Given the description of an element on the screen output the (x, y) to click on. 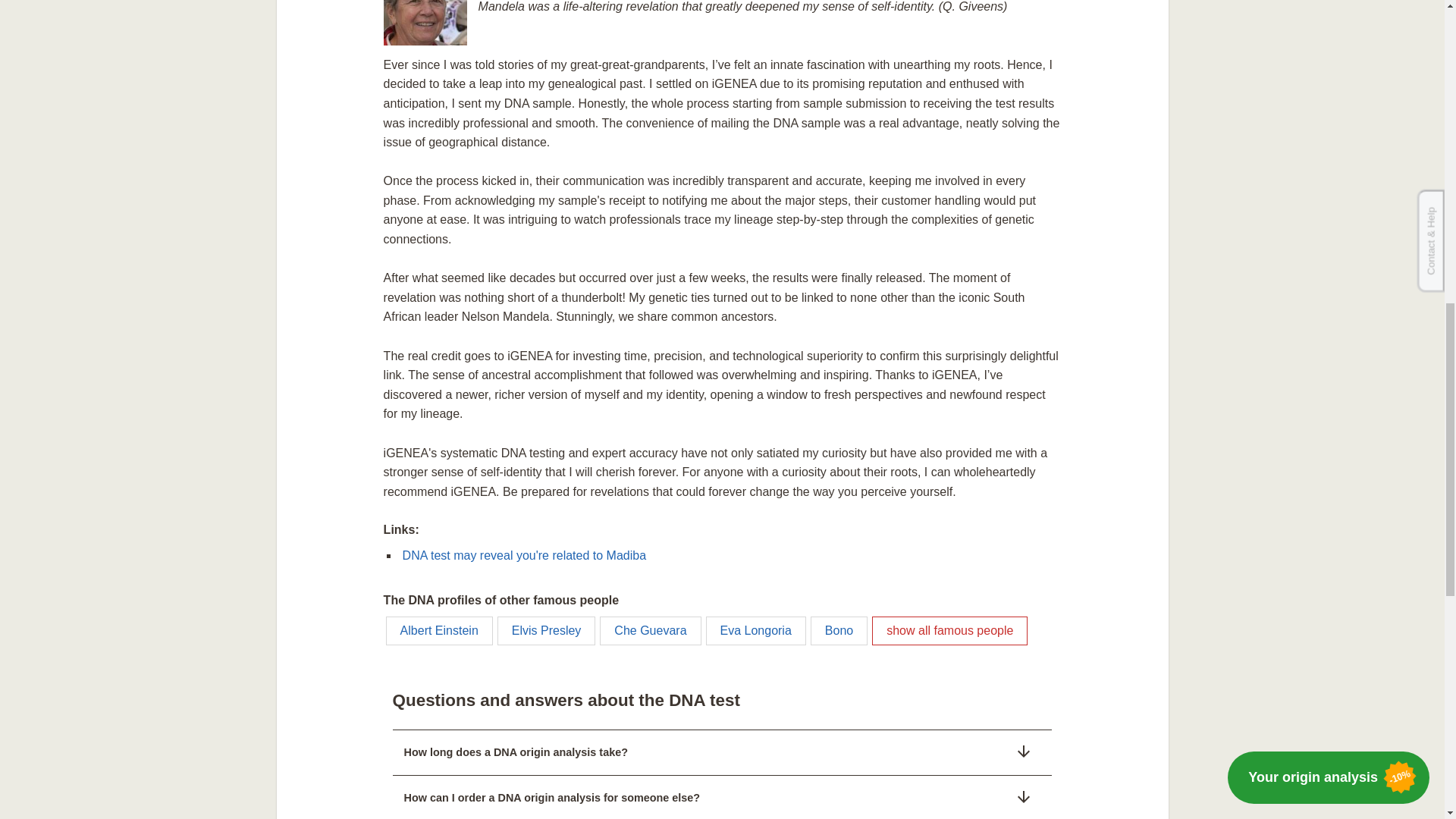
The DNA profile of Eva Longoria (756, 630)
Eva Longoria (756, 630)
The DNA profile of Che Guevara (649, 630)
show all famous people (949, 630)
Albert Einstein (439, 630)
The DNA profile of Bono (838, 630)
Elvis Presley (546, 630)
Bono (838, 630)
The DNA profile of Albert Einstein (439, 630)
Che Guevara (649, 630)
The DNA profiles of other famous people (949, 630)
DNA test may reveal you're related to Madiba (524, 554)
DNA test may reveal you're related to Madiba (524, 554)
The DNA profile of Elvis Presley (546, 630)
